Given the description of an element on the screen output the (x, y) to click on. 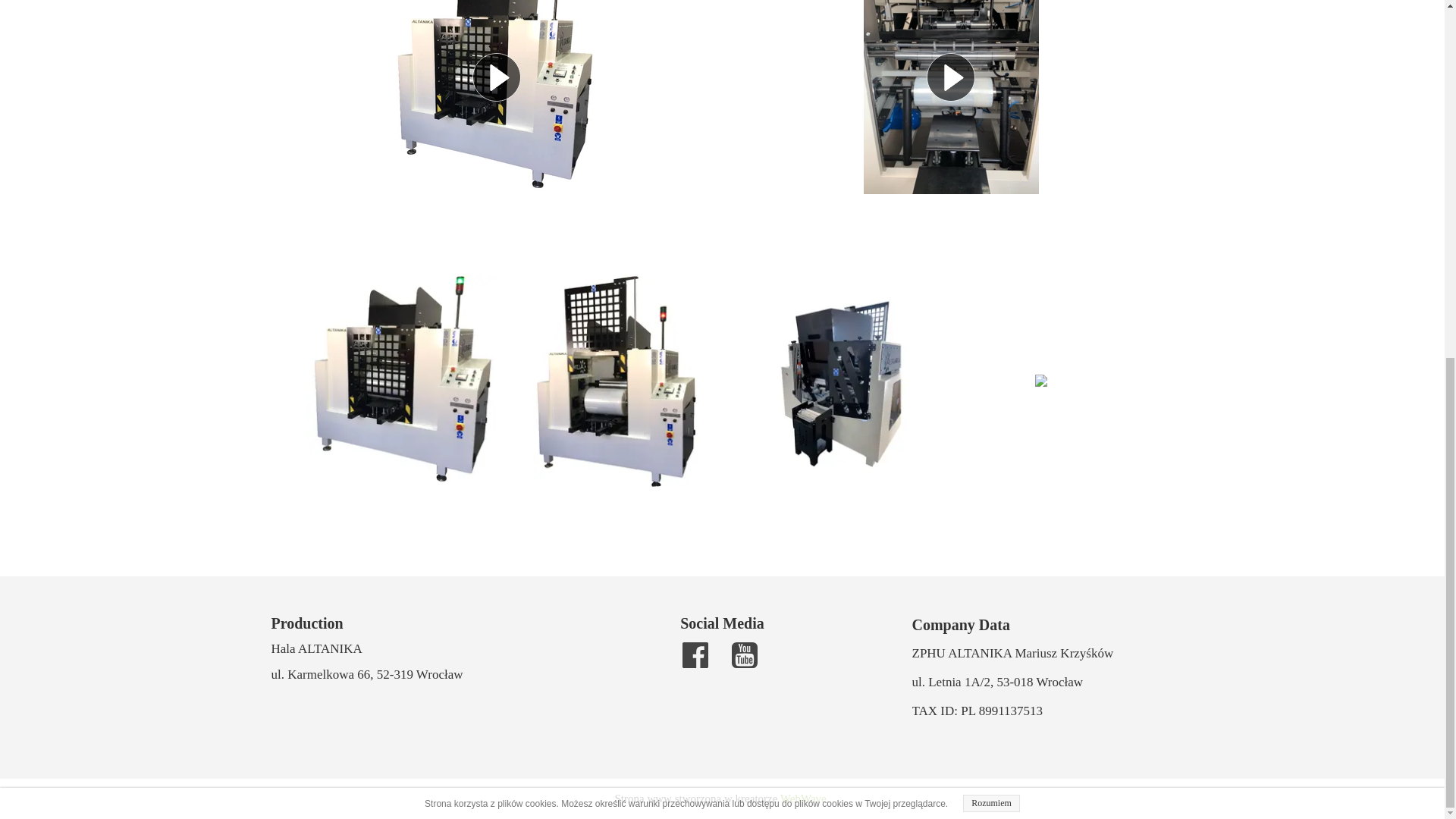
WebWave. (804, 798)
Rozumiem (991, 171)
